Given the description of an element on the screen output the (x, y) to click on. 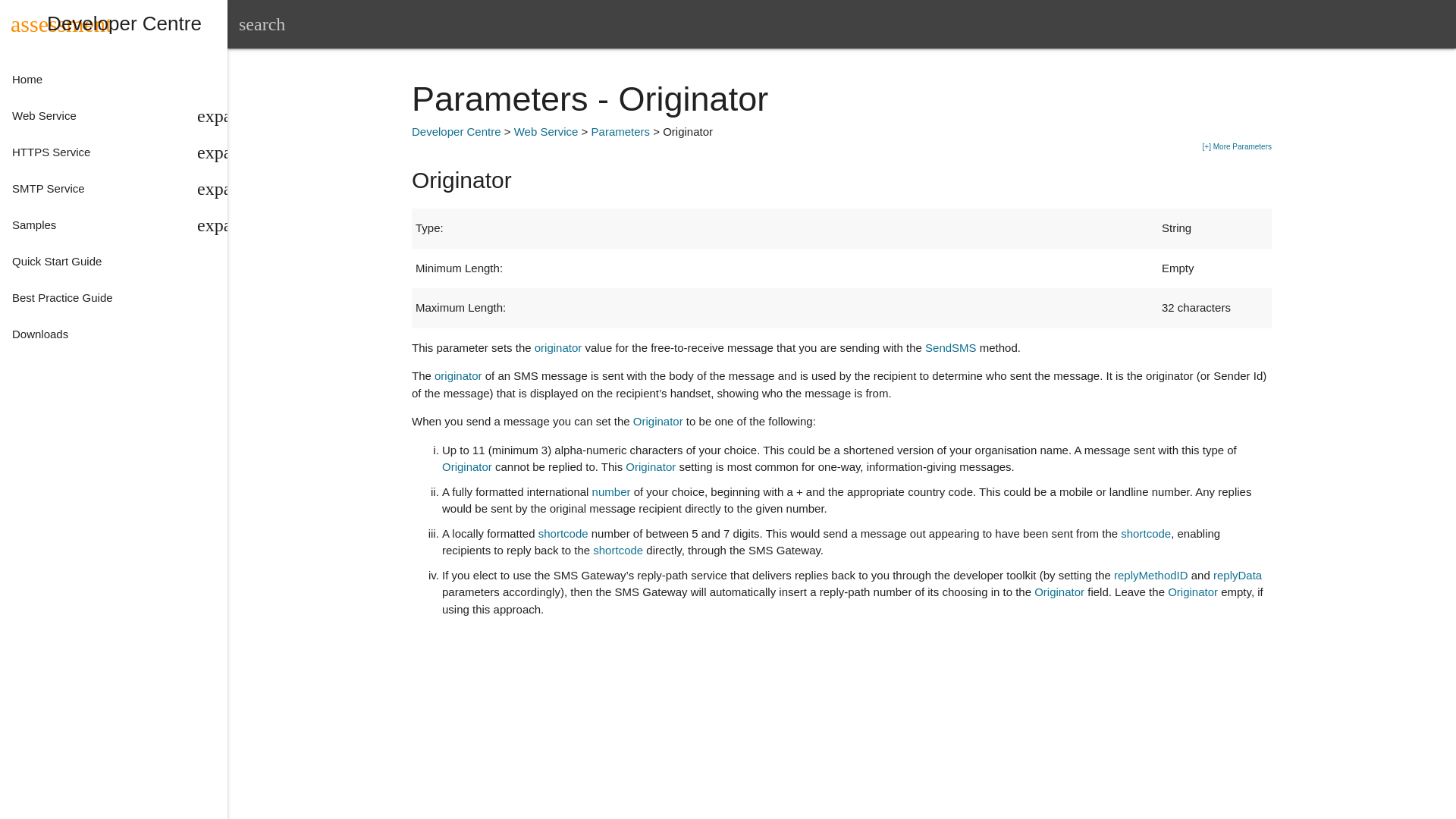
Home (113, 22)
